Given the description of an element on the screen output the (x, y) to click on. 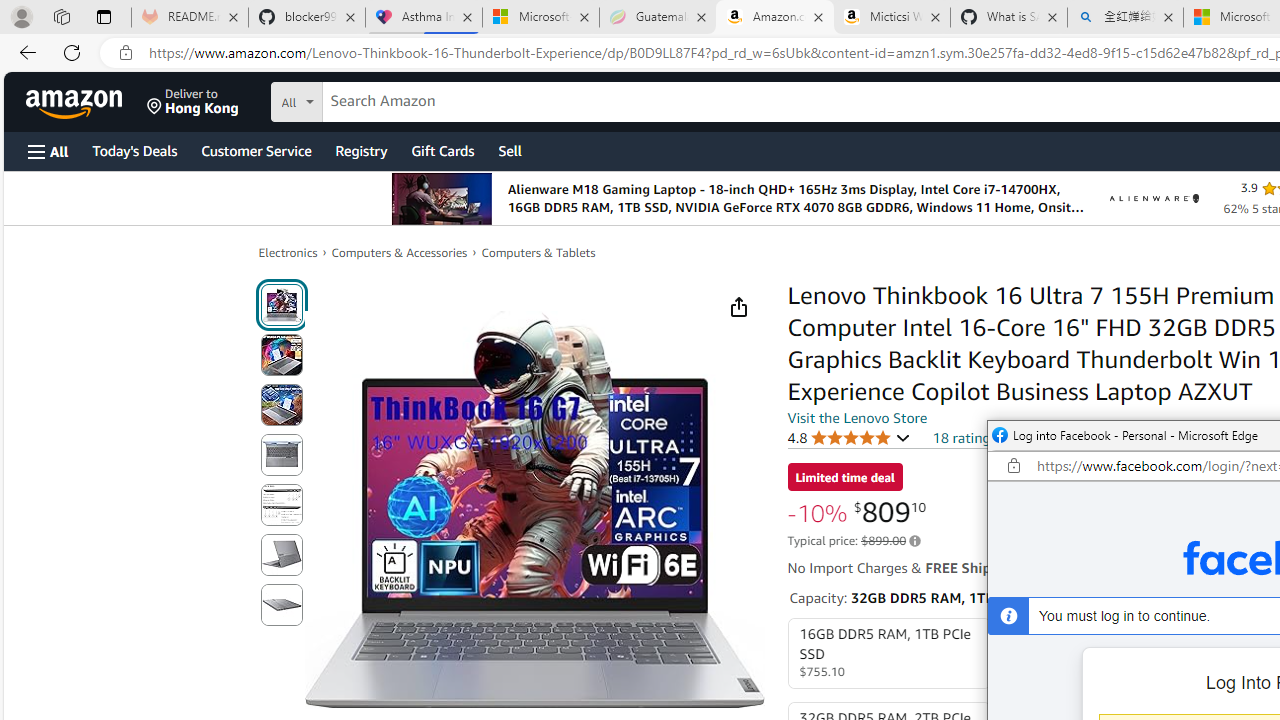
Computers & Accessories (399, 252)
Search in (371, 99)
Share (738, 307)
Skip to main content (86, 100)
Open Menu (48, 151)
